Given the description of an element on the screen output the (x, y) to click on. 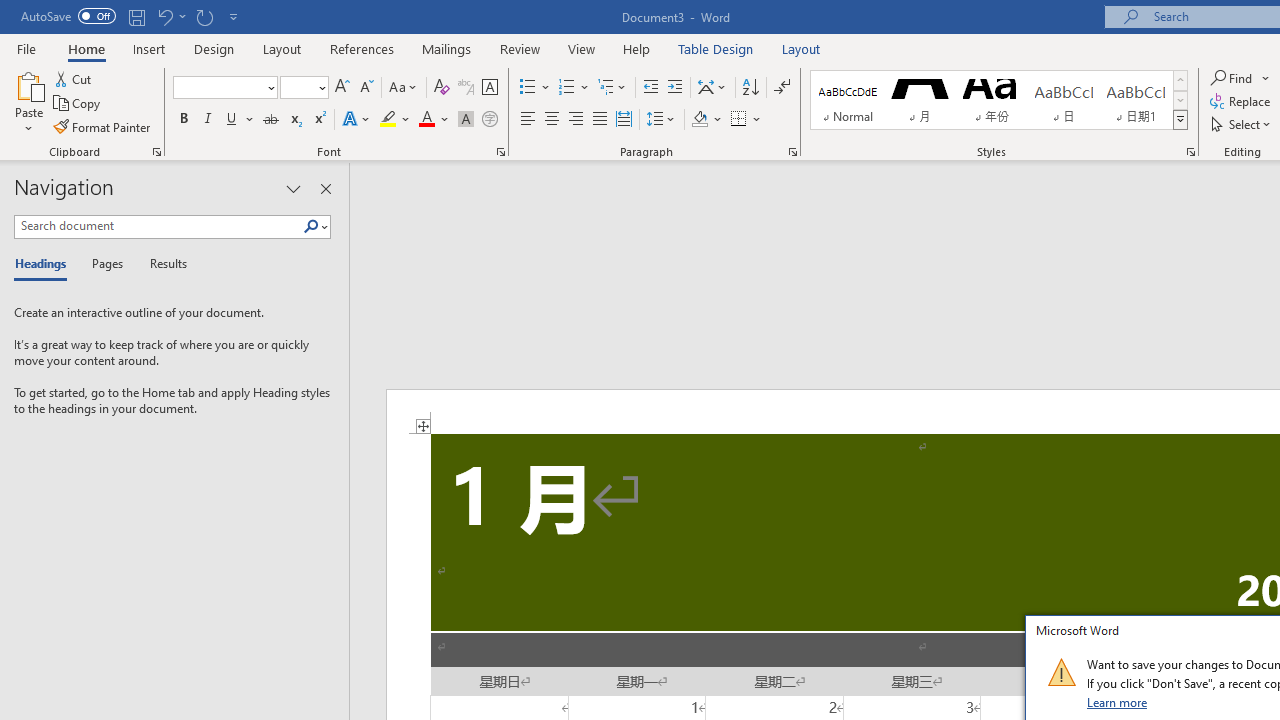
Text Effects and Typography (357, 119)
Justify (599, 119)
Replace... (1242, 101)
Table Design (715, 48)
Font... (500, 151)
Enclose Characters... (489, 119)
